Given the description of an element on the screen output the (x, y) to click on. 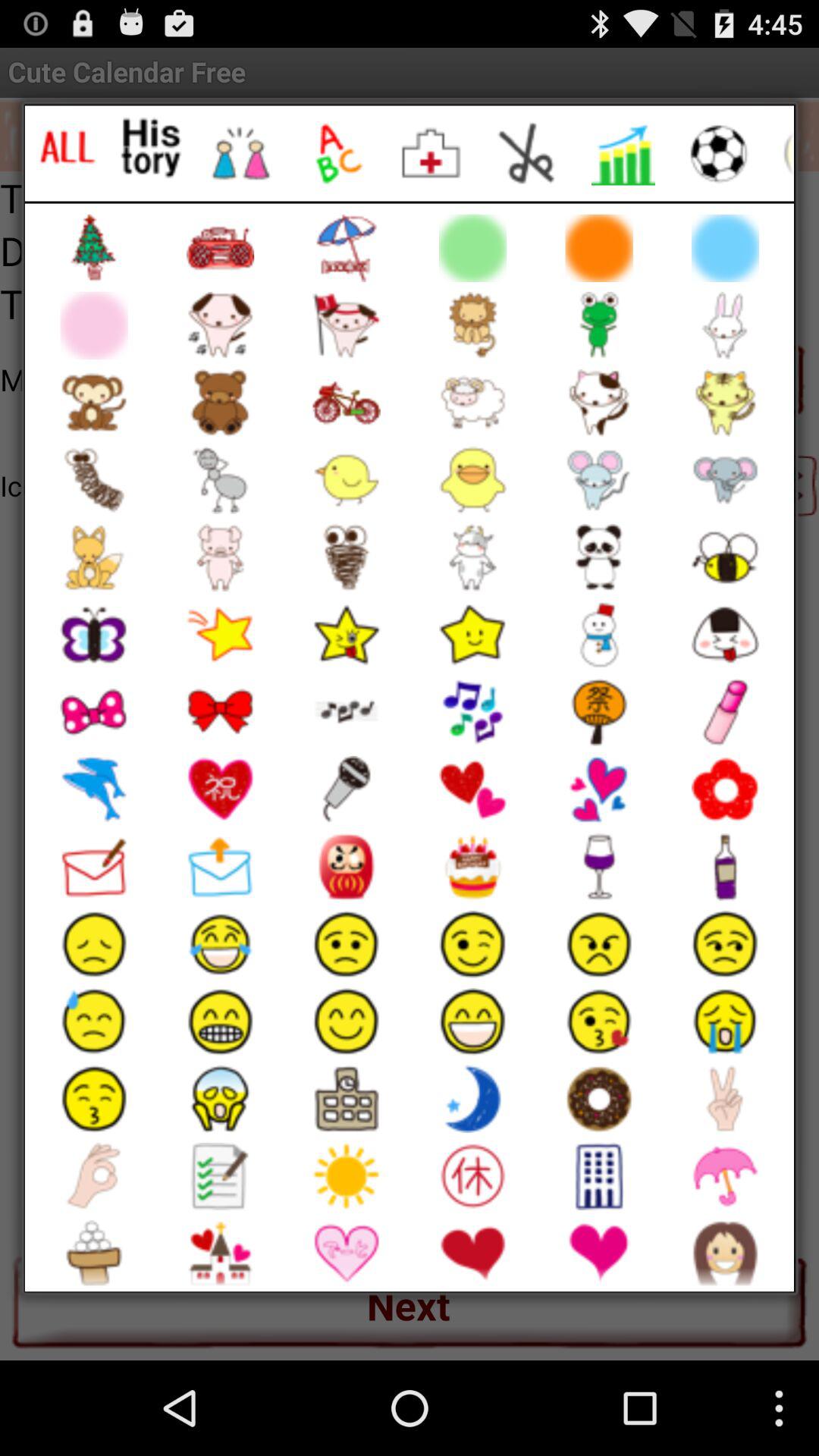
go to abc emoji (336, 153)
